Given the description of an element on the screen output the (x, y) to click on. 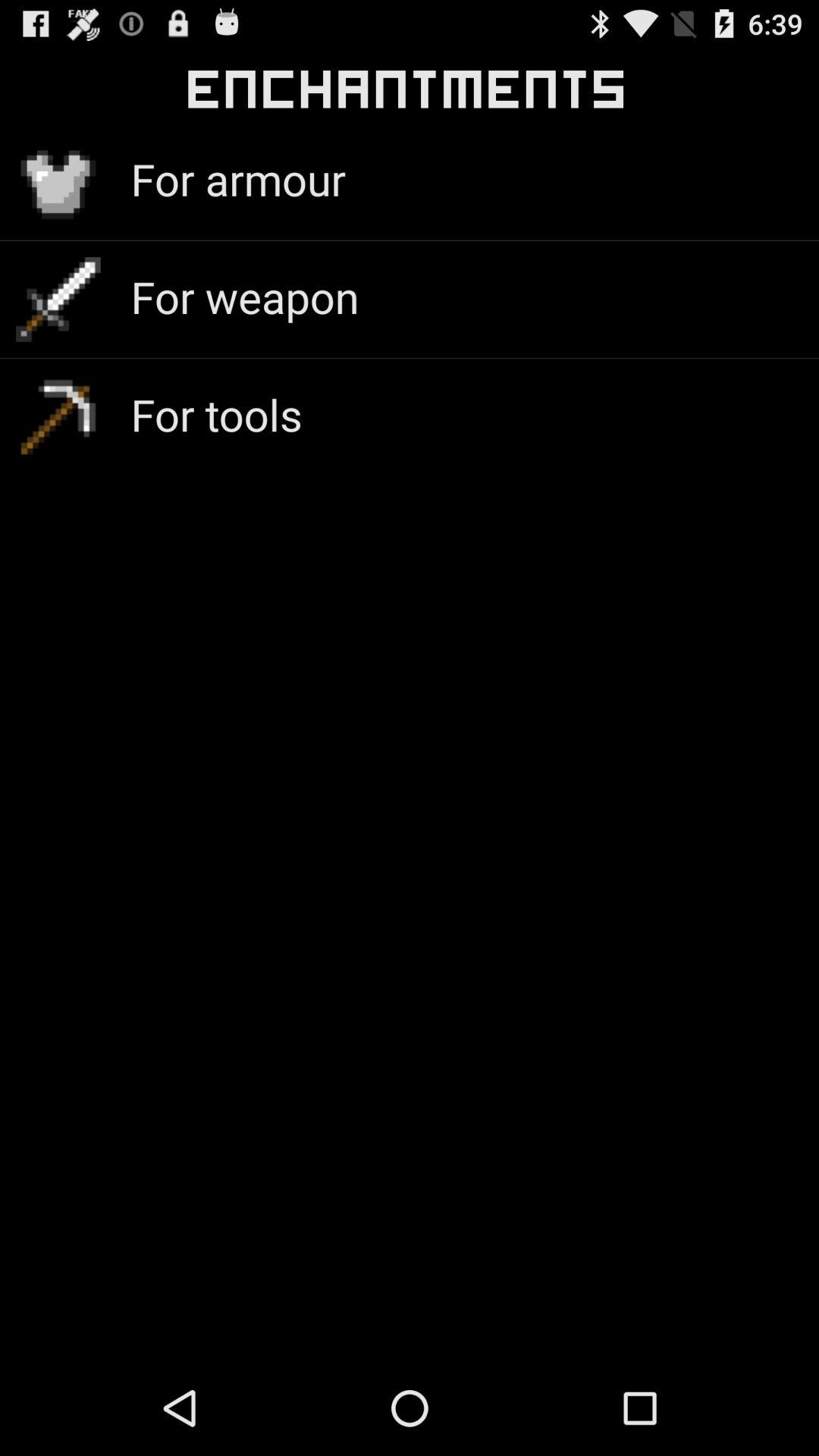
scroll to the for tools app (216, 414)
